Given the description of an element on the screen output the (x, y) to click on. 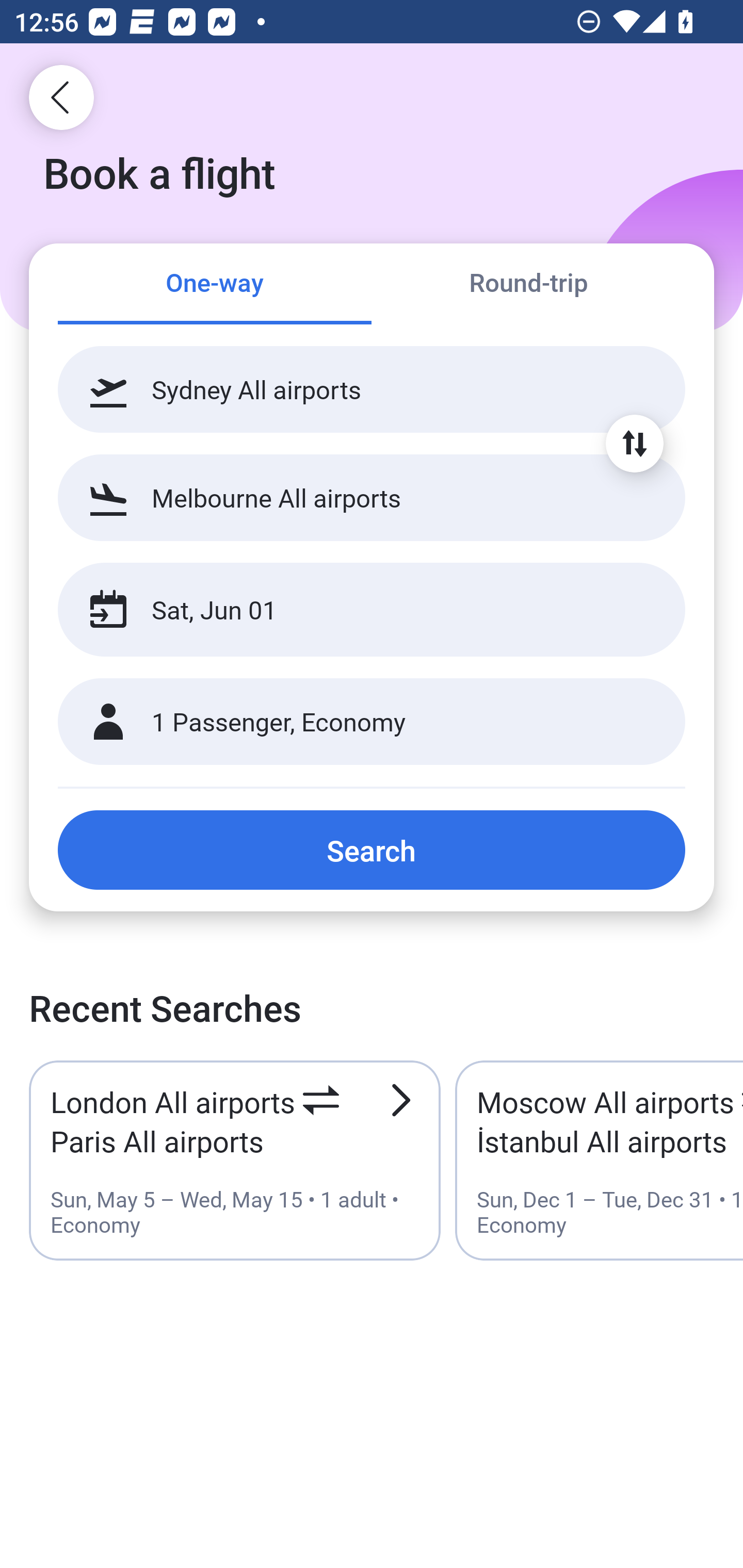
Round-trip (528, 284)
Sydney All airports (371, 389)
Melbourne All airports (371, 497)
Sat, Jun 01 (349, 609)
1 Passenger, Economy (371, 721)
Search (371, 849)
